Given the description of an element on the screen output the (x, y) to click on. 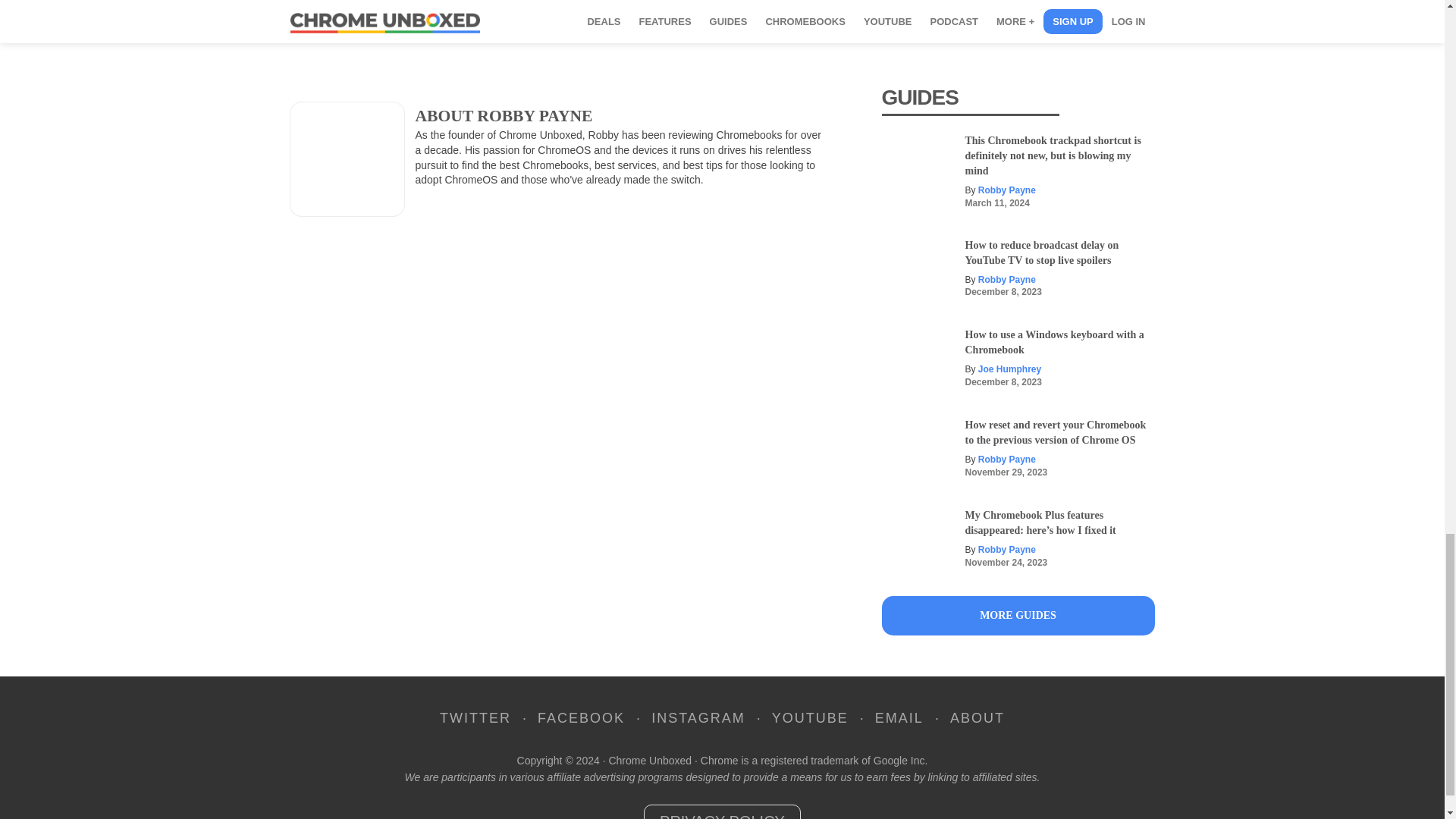
Guides and How-To's (1017, 615)
